Given the description of an element on the screen output the (x, y) to click on. 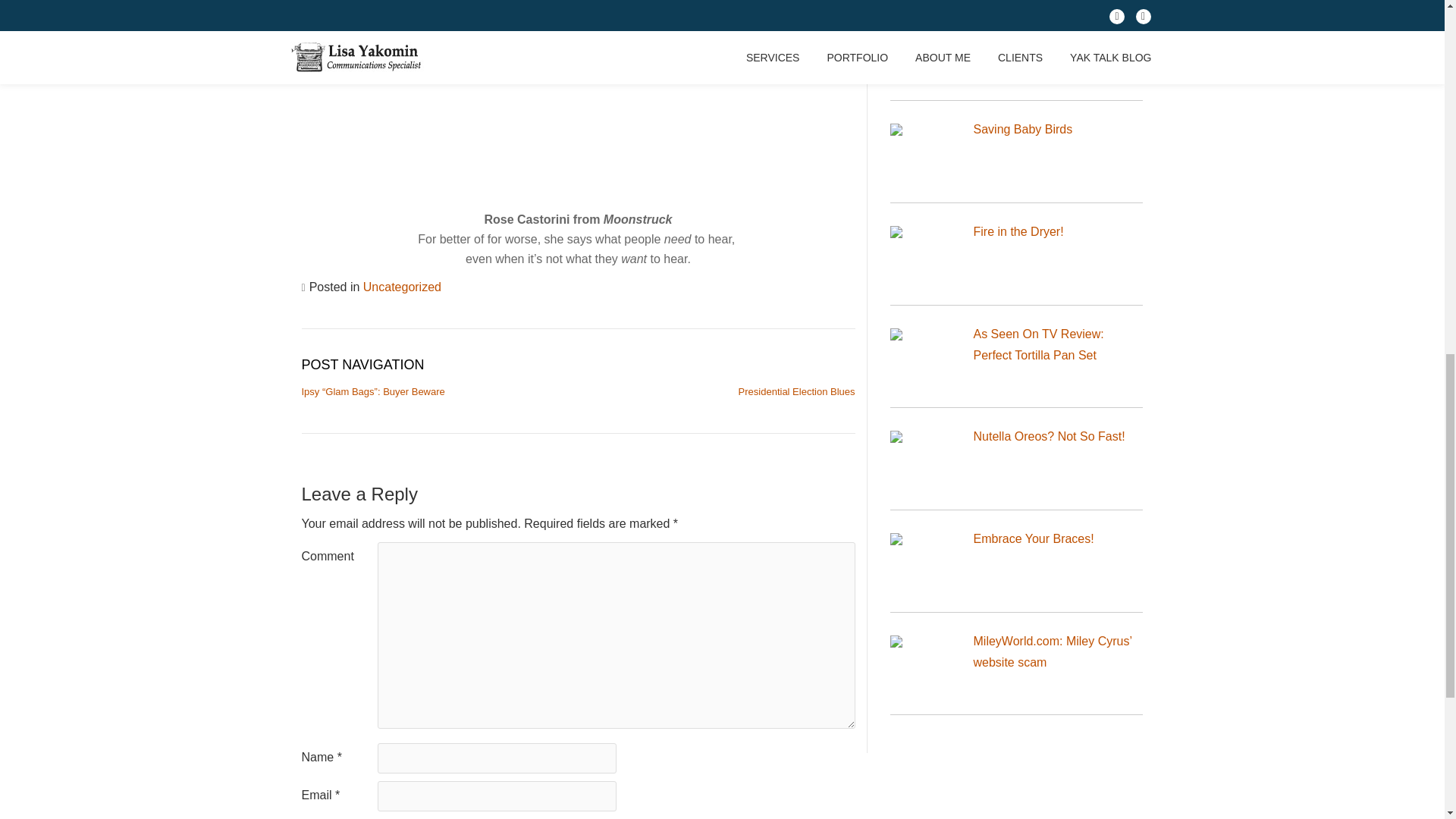
Presidential Election Blues (797, 391)
Nutella Oreos? Not So Fast! (1049, 436)
Uncategorized (401, 286)
Saving Baby Birds (1023, 128)
Fire in the Dryer! (1019, 231)
As Seen On TV Review: Perfect Tortilla Pan Set (1038, 344)
The Dolphin Custume: A How-To (1054, 37)
